Given the description of an element on the screen output the (x, y) to click on. 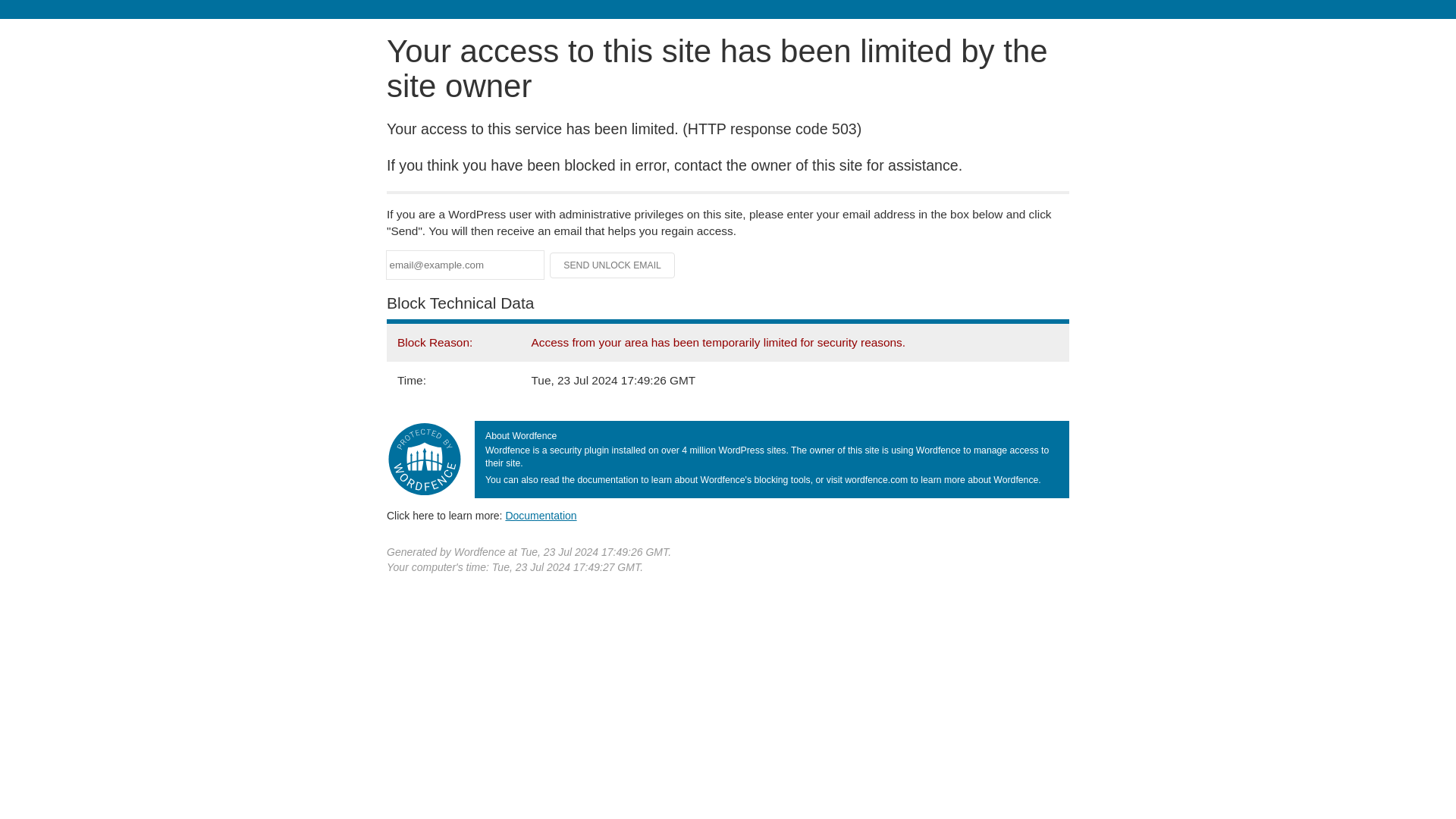
Send Unlock Email (612, 265)
Send Unlock Email (612, 265)
Documentation (540, 515)
